Given the description of an element on the screen output the (x, y) to click on. 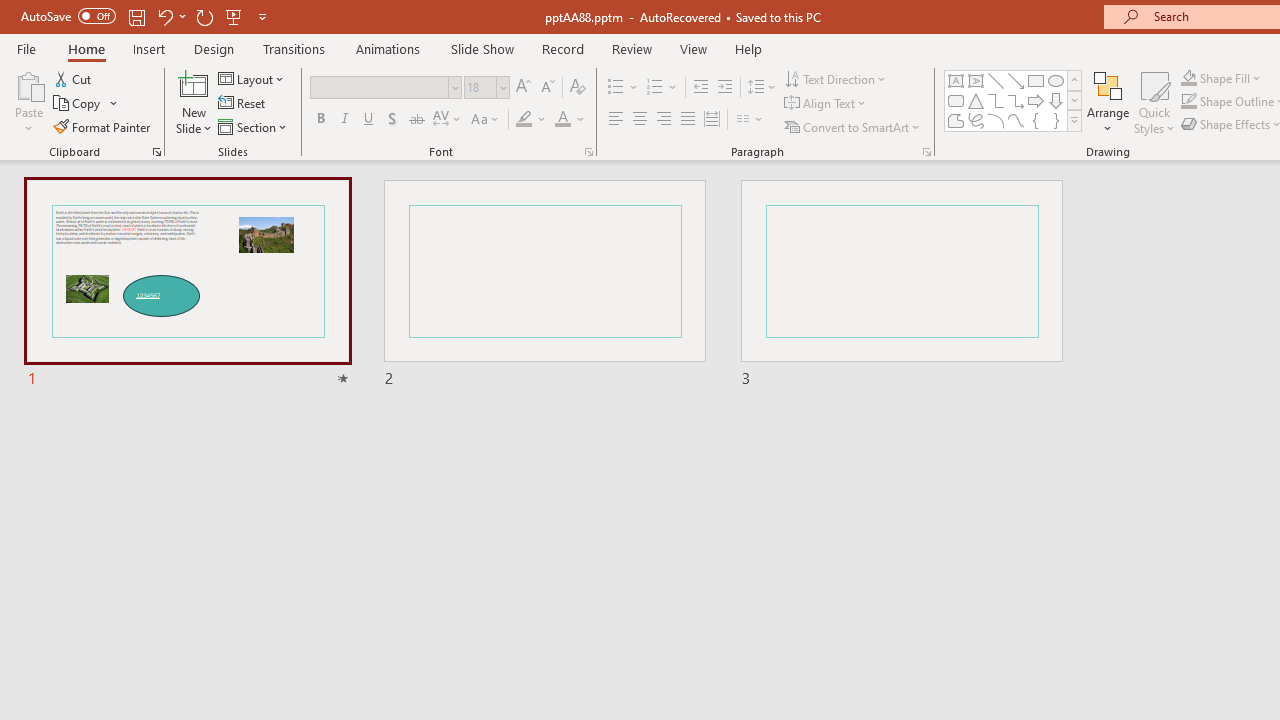
Strikethrough (416, 119)
Character Spacing (447, 119)
Layout (252, 78)
Center (639, 119)
Vertical Text Box (975, 80)
Align Right (663, 119)
Change Case (486, 119)
Shadow (392, 119)
Connector: Elbow Arrow (1016, 100)
Format Painter (103, 126)
